Given the description of an element on the screen output the (x, y) to click on. 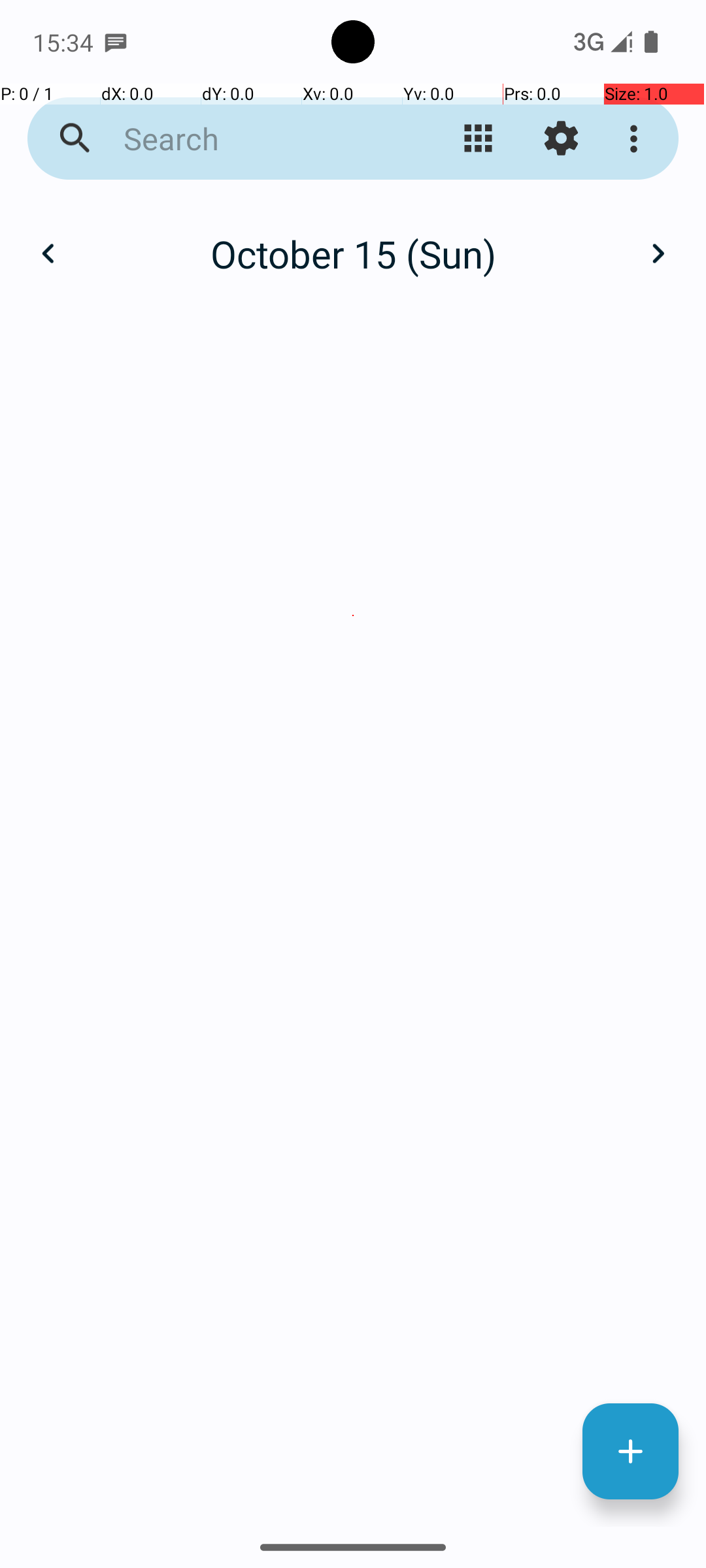
October 15 (Sun) Element type: android.widget.TextView (352, 253)
